Given the description of an element on the screen output the (x, y) to click on. 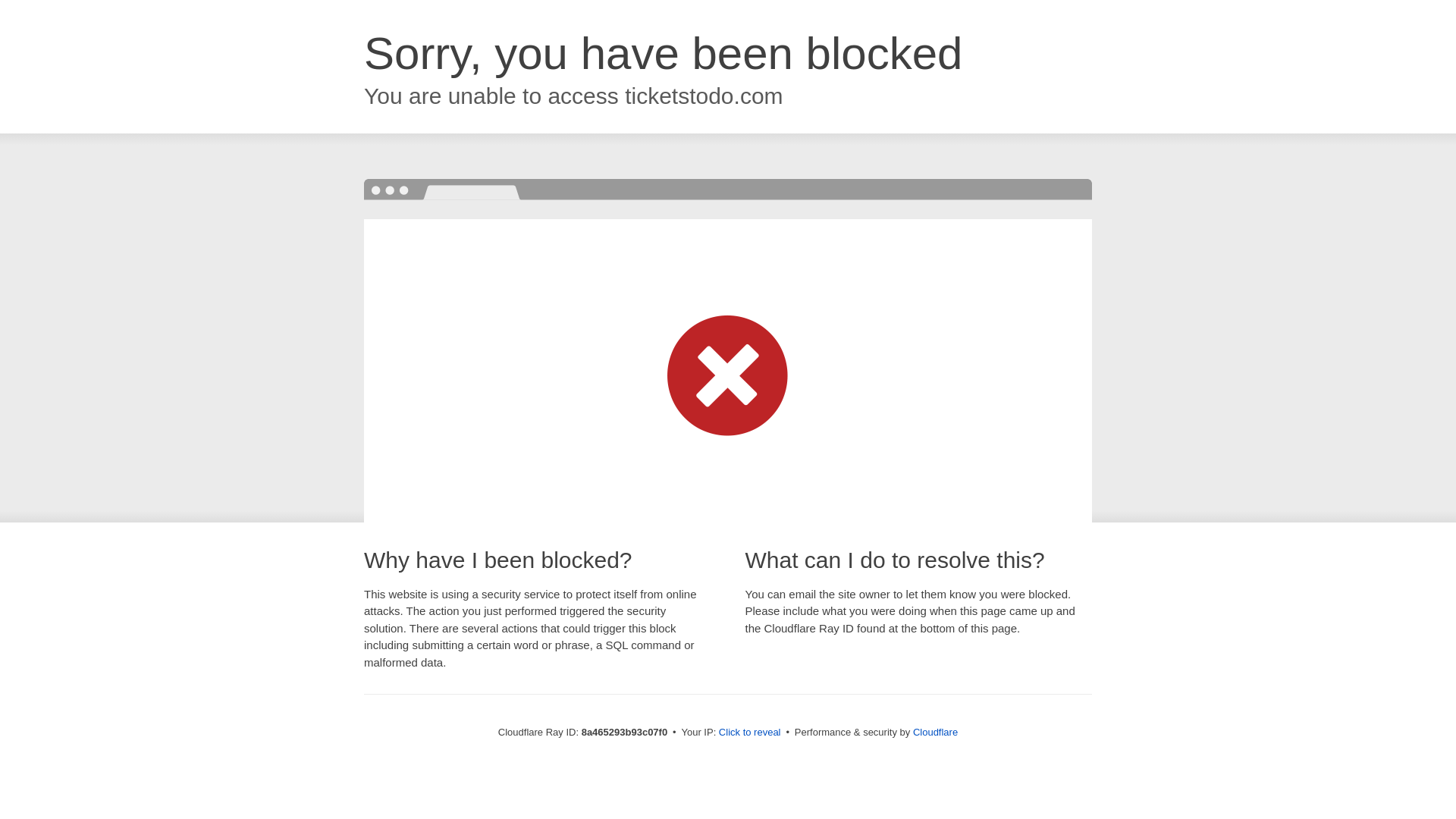
Click to reveal (749, 732)
Cloudflare (935, 731)
